Given the description of an element on the screen output the (x, y) to click on. 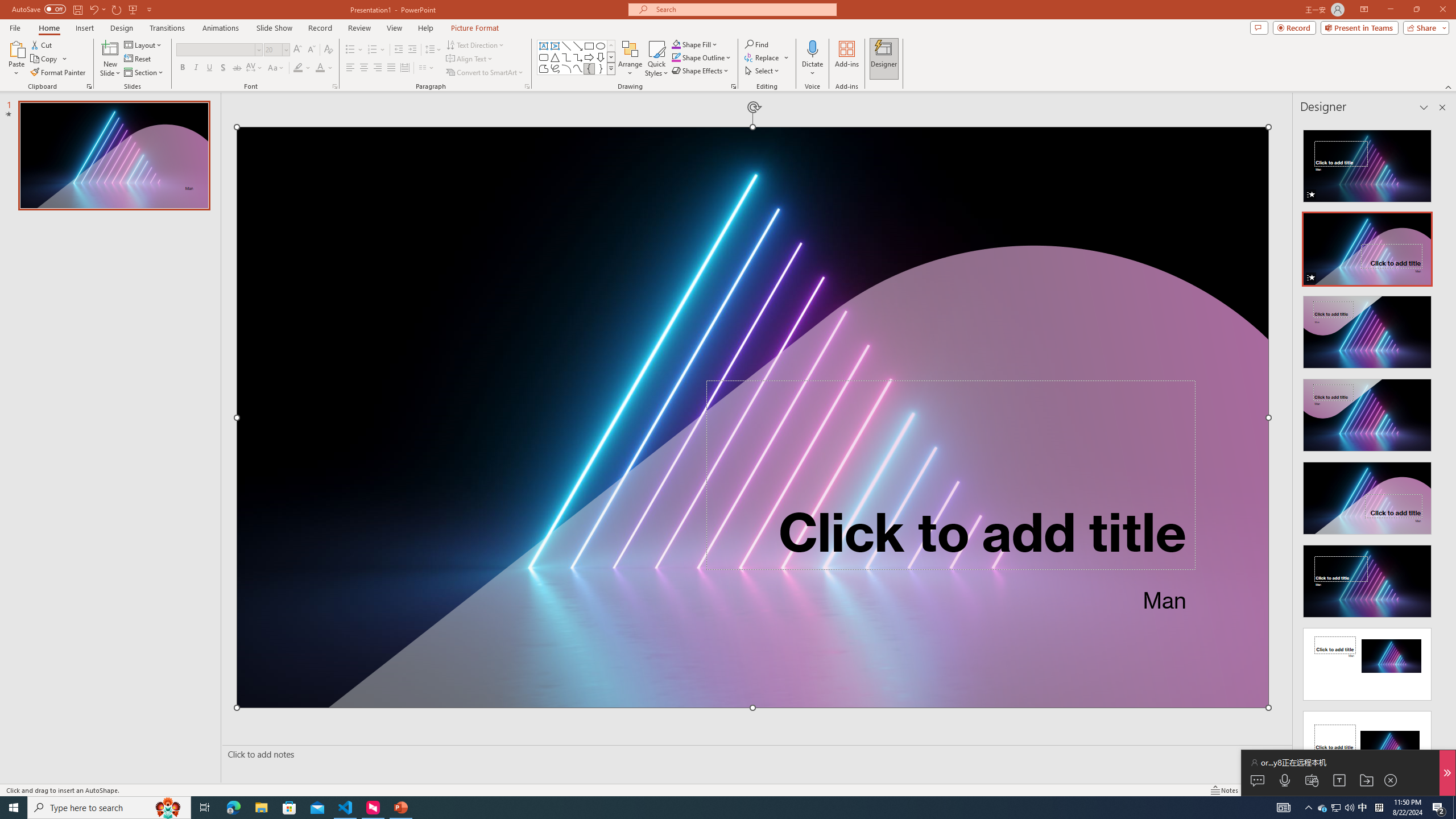
Recommended Design: Animation (1366, 162)
